Given the description of an element on the screen output the (x, y) to click on. 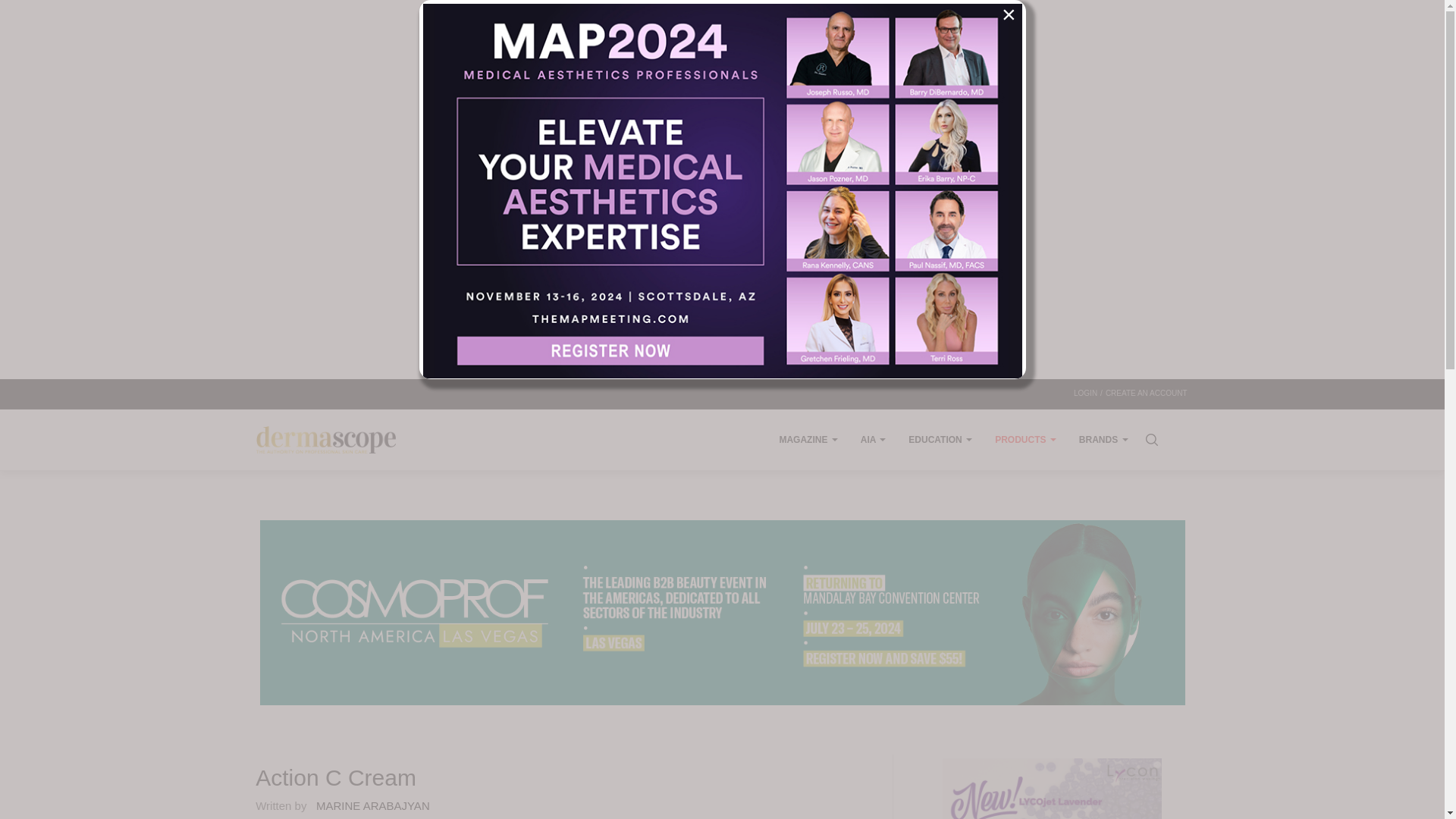
search... (1149, 439)
Login (1085, 394)
CREATE AN ACCOUNT (1146, 394)
search... (1149, 439)
LOGIN (1085, 394)
MAGAZINE (807, 439)
EDUCATION (940, 439)
DERMASCOPE (326, 439)
